Given the description of an element on the screen output the (x, y) to click on. 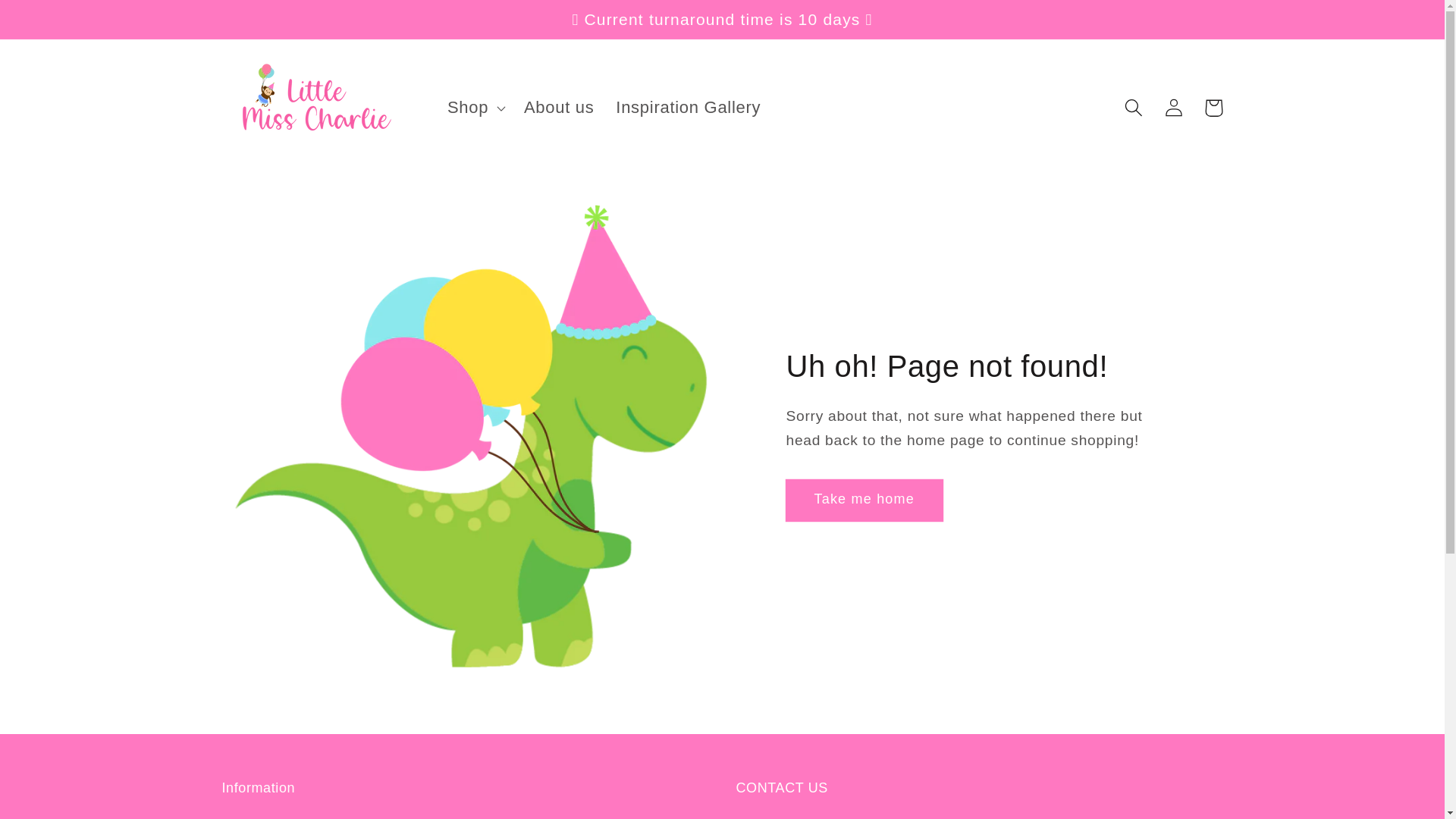
Take me home Element type: text (863, 500)
Inspiration Gallery Element type: text (688, 107)
Log in Element type: text (1173, 107)
About us Element type: text (559, 107)
Cart Element type: text (1213, 107)
